Given the description of an element on the screen output the (x, y) to click on. 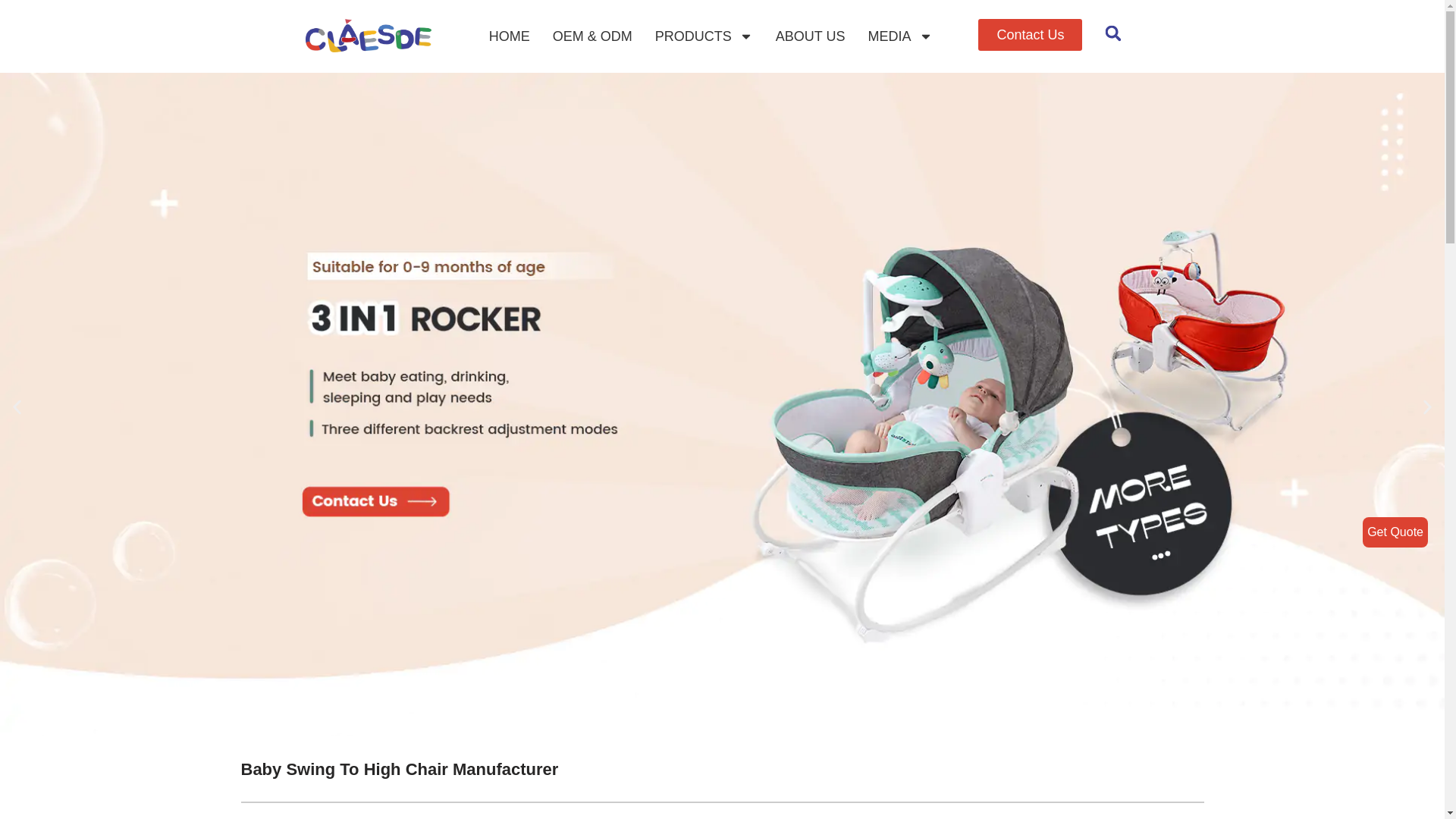
Skip to content (11, 31)
HOME (509, 36)
PRODUCTS (703, 36)
